Given the description of an element on the screen output the (x, y) to click on. 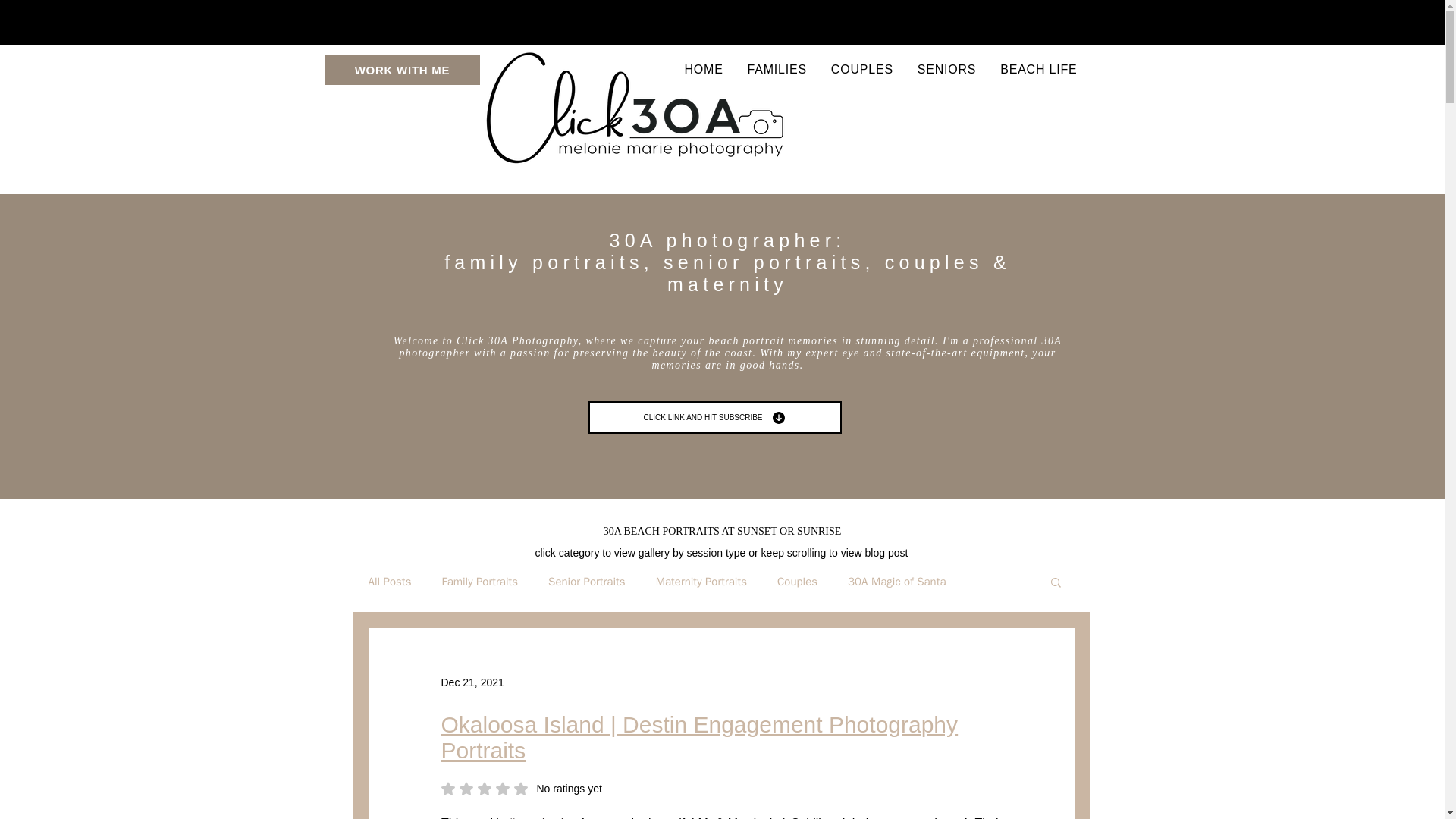
Couples (796, 581)
FAMILIES (776, 69)
CLICK LINK AND HIT SUBSCRIBE (714, 417)
SENIORS (521, 788)
Family Portraits (946, 69)
Dec 21, 2021 (479, 581)
30A Magic of Santa (472, 682)
All Posts (895, 581)
COUPLES (390, 581)
